Given the description of an element on the screen output the (x, y) to click on. 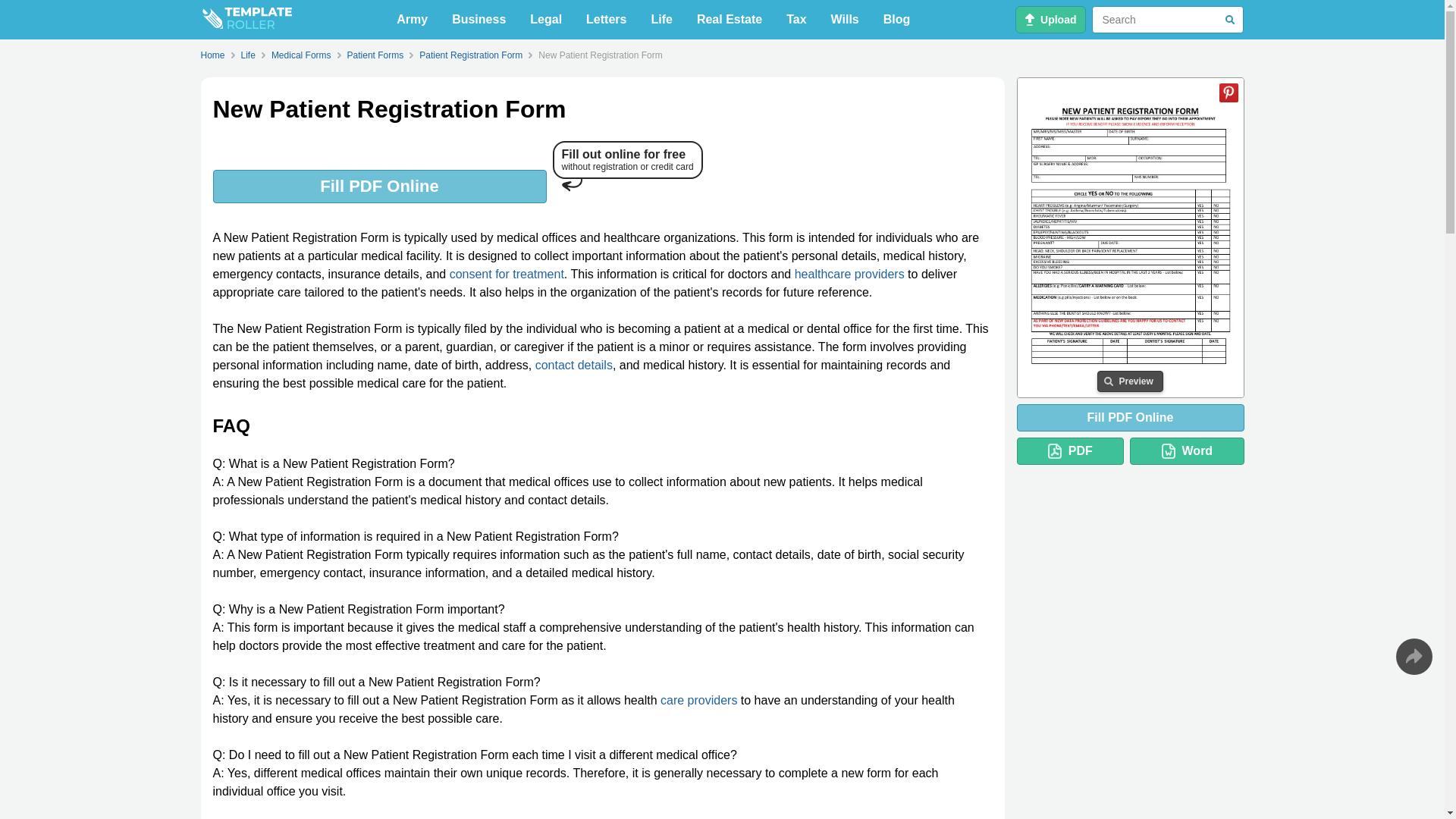
Medical Forms (300, 55)
healthcare providers (849, 273)
Patient Registration Form (470, 55)
Home (215, 55)
Wills (844, 19)
Life (248, 55)
Life (661, 19)
TemplateRoller (245, 19)
Legal (545, 19)
